Given the description of an element on the screen output the (x, y) to click on. 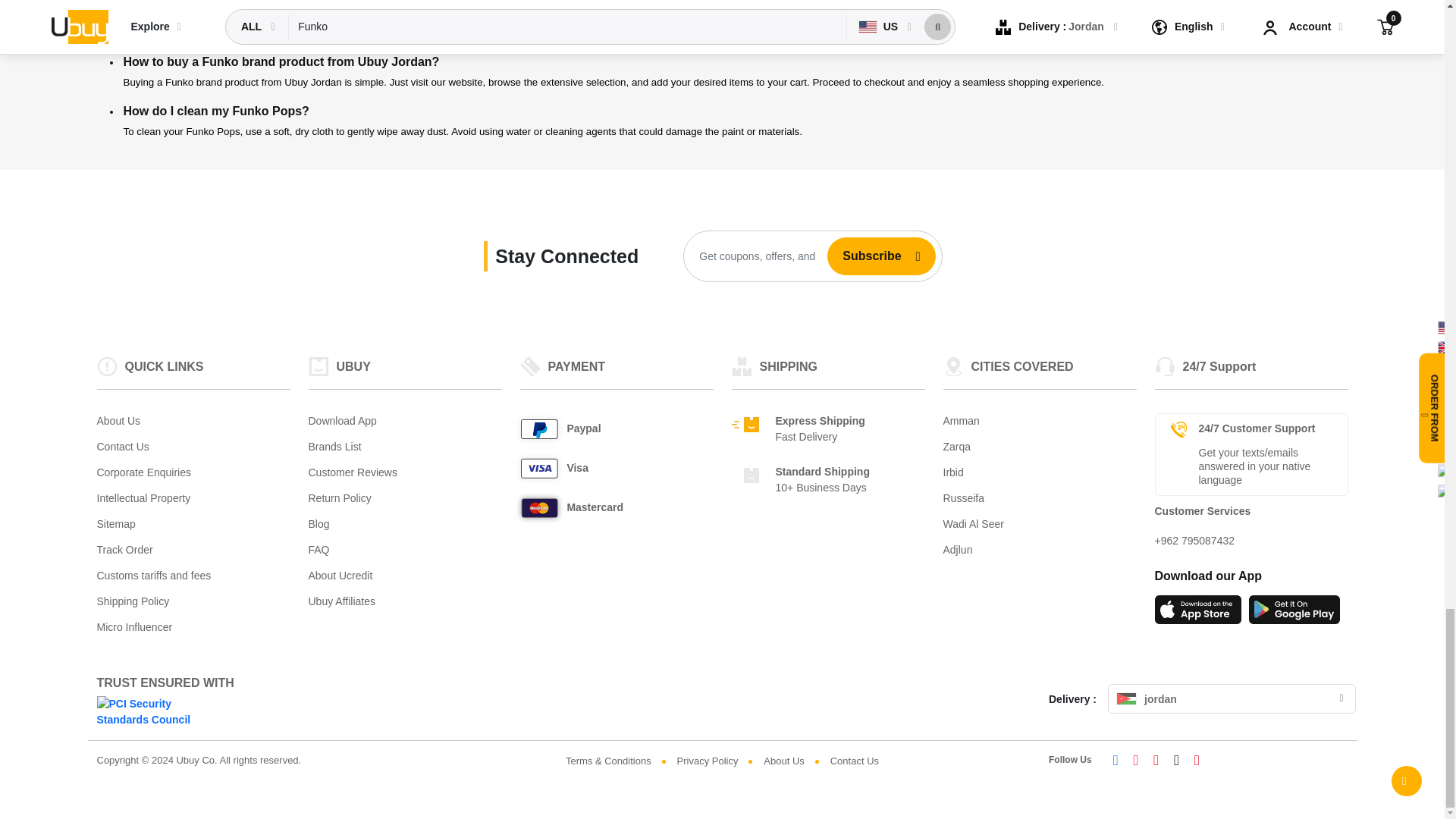
Subscribe (865, 255)
